Given the description of an element on the screen output the (x, y) to click on. 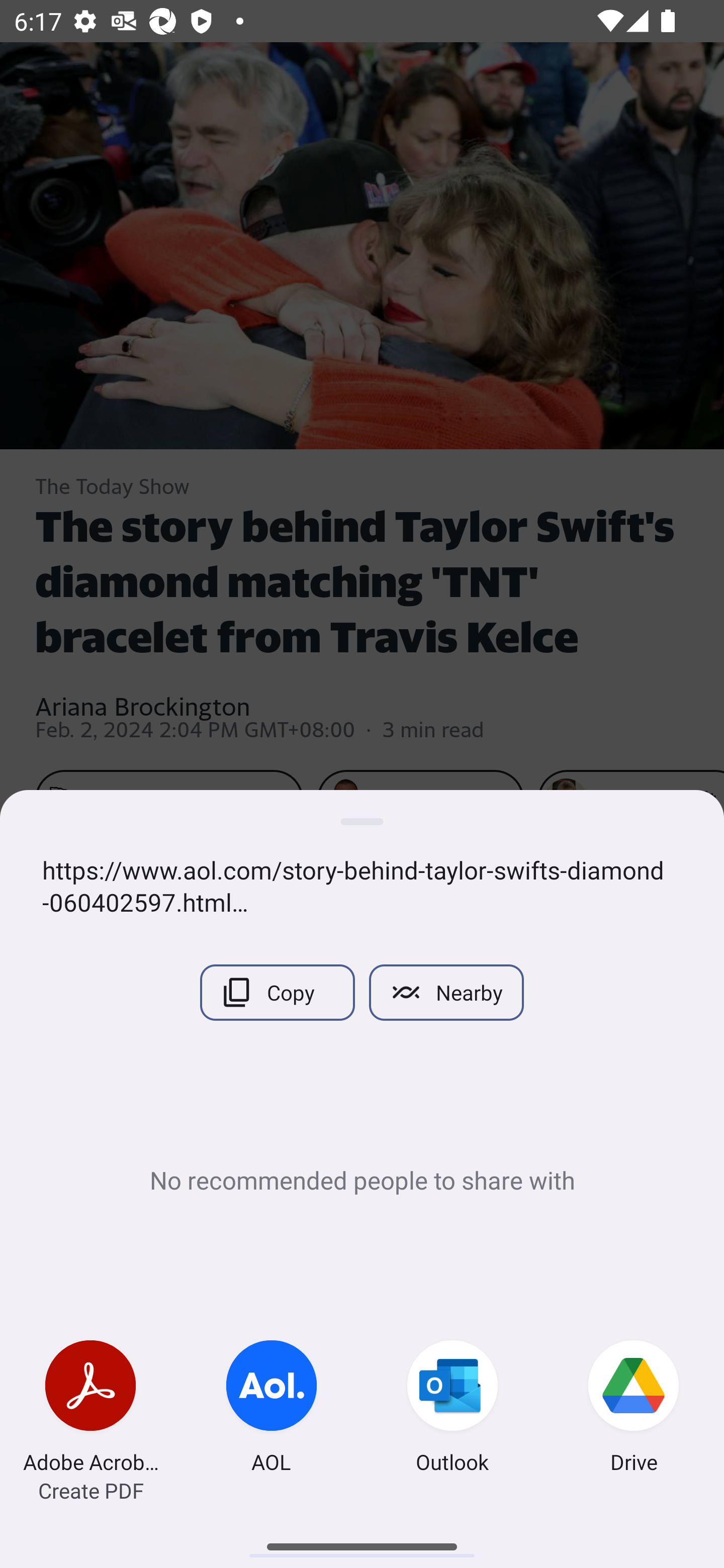
Copy (276, 992)
Nearby (446, 992)
Adobe Acrobat Create PDF (90, 1409)
AOL (271, 1409)
Outlook (452, 1409)
Drive (633, 1409)
